Given the description of an element on the screen output the (x, y) to click on. 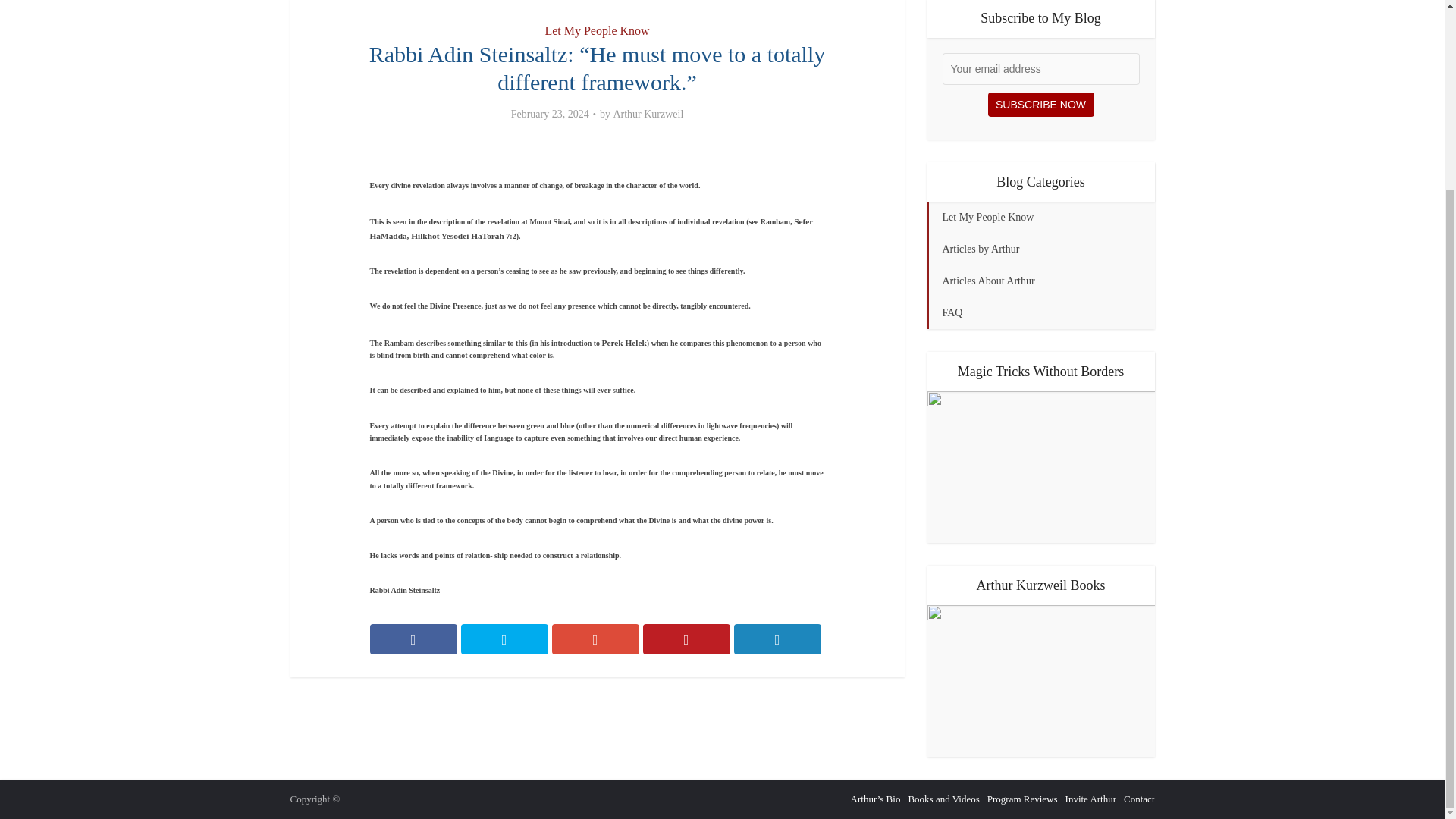
Program Reviews (1022, 798)
Invite Arthur (1090, 798)
Articles by Arthur (1040, 249)
Let My People Know (1040, 217)
SUBSCRIBE NOW (1040, 104)
Books and Videos (942, 798)
Let My People Know (596, 30)
Contact (1139, 798)
Arthur Kurzweil (647, 114)
FAQ (1040, 313)
